Given the description of an element on the screen output the (x, y) to click on. 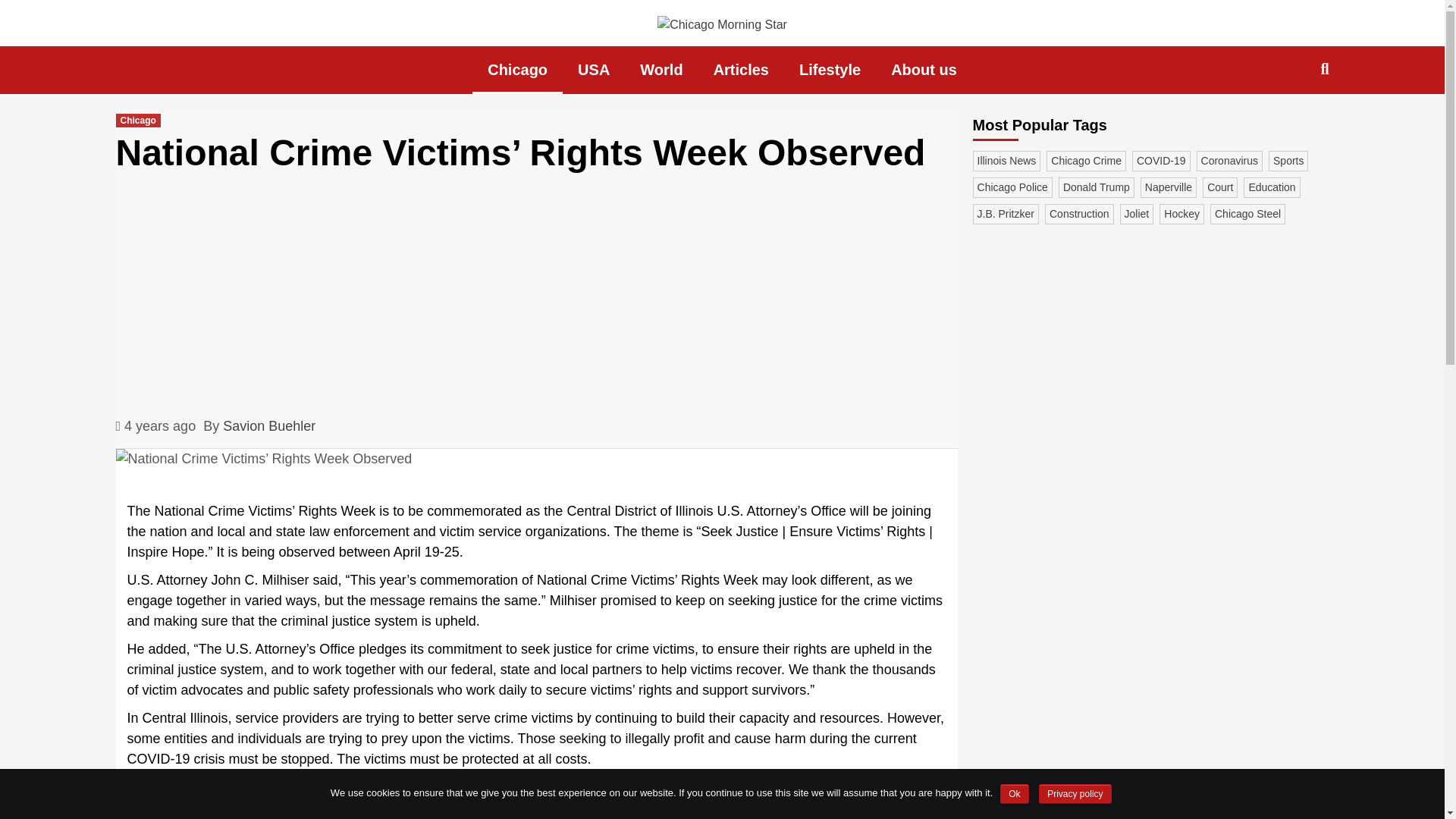
World (660, 69)
Chicago (516, 69)
Savion Buehler (268, 426)
Lifestyle (830, 69)
Chicago Morning Star (390, 60)
USA (593, 69)
Chicago (137, 120)
About us (924, 69)
Articles (741, 69)
